Given the description of an element on the screen output the (x, y) to click on. 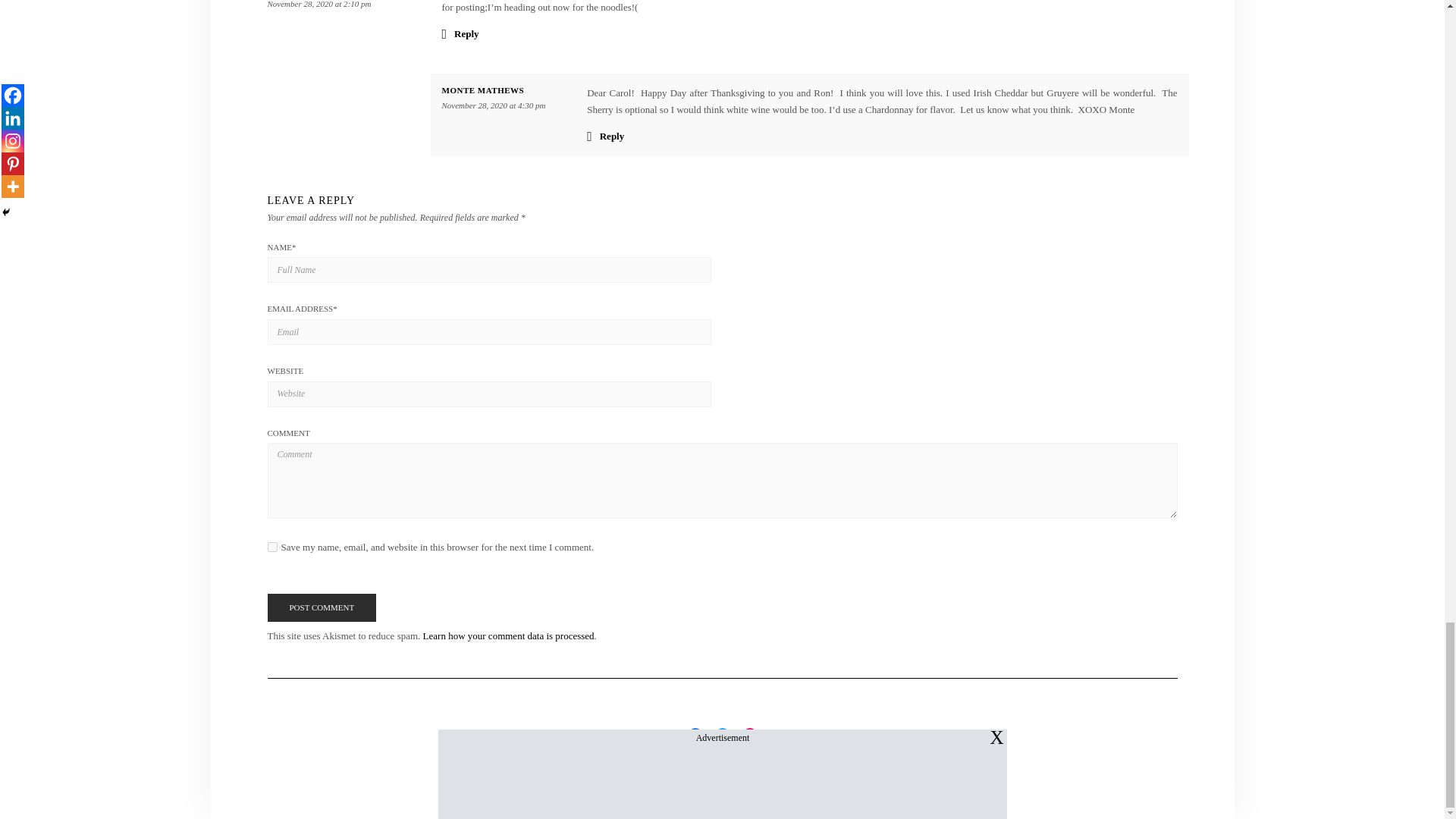
Post Comment (320, 607)
yes (271, 547)
